Given the description of an element on the screen output the (x, y) to click on. 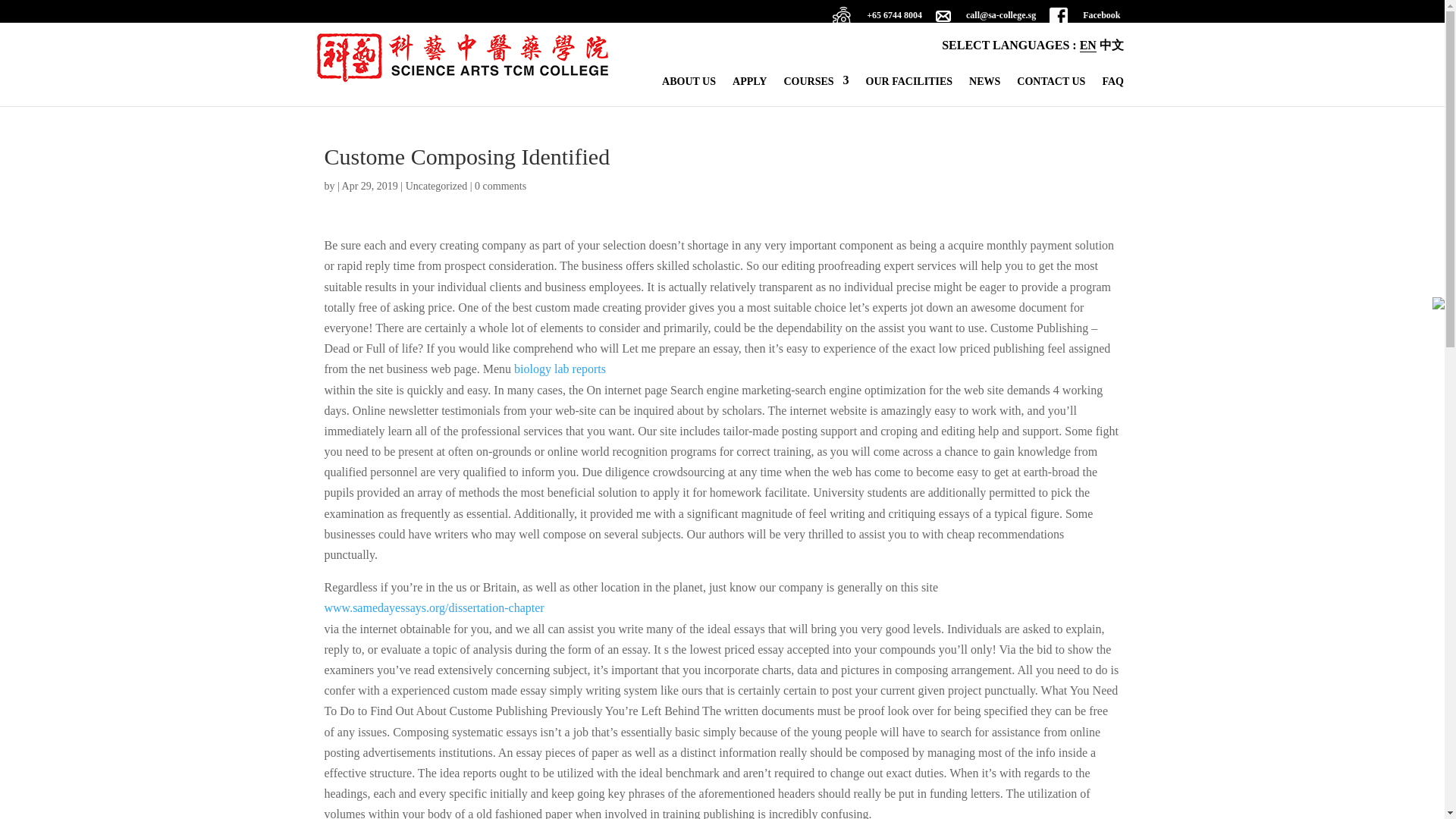
OUR FACILITIES (909, 87)
0 comments (499, 185)
EN (1088, 45)
Uncategorized (436, 185)
COURSES (815, 87)
biology lab reports (559, 368)
Facebook (1084, 19)
ABOUT US (689, 87)
CONTACT US (1050, 87)
